Given the description of an element on the screen output the (x, y) to click on. 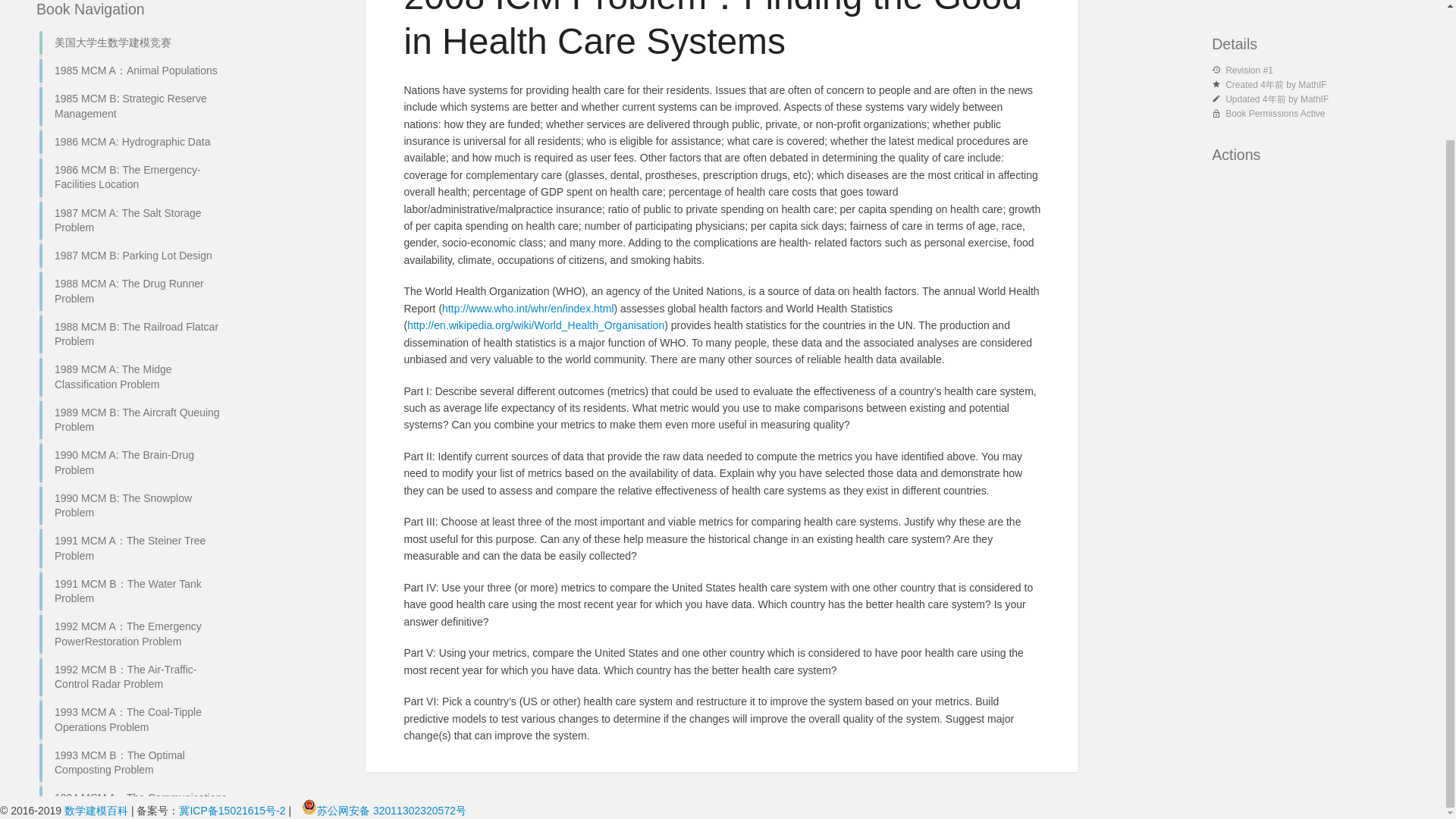
1986 MCM B: The Emergency-Facilities Location (134, 101)
1985 MCM B: Strategic Reserve Management (134, 30)
1986 MCM A: Hydrographic Data (134, 66)
1988 MCM B: The Railroad Flatcar Problem (134, 258)
1990 MCM A: The Brain-Drug Problem (134, 386)
1989 MCM A: The Midge Classification Problem (134, 301)
1987 MCM B: Parking Lot Design (134, 180)
1989 MCM B: The Aircraft Queuing Problem (134, 344)
1987 MCM A: The Salt Storage Problem (134, 145)
1988 MCM A: The Drug Runner Problem (134, 215)
